Given the description of an element on the screen output the (x, y) to click on. 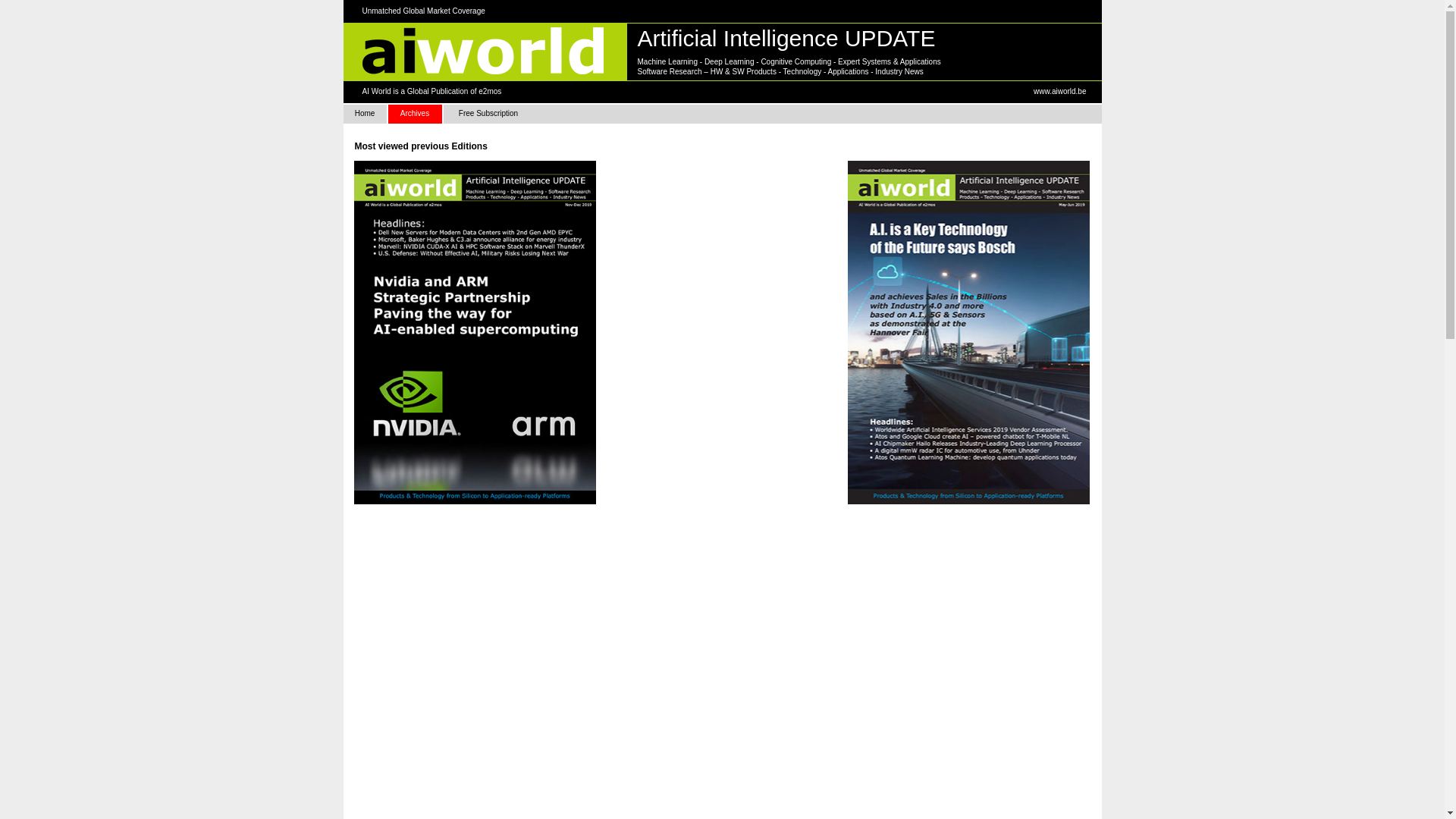
Archives Element type: text (415, 113)
Free Subscription Element type: text (487, 113)
Home Element type: text (363, 113)
